Given the description of an element on the screen output the (x, y) to click on. 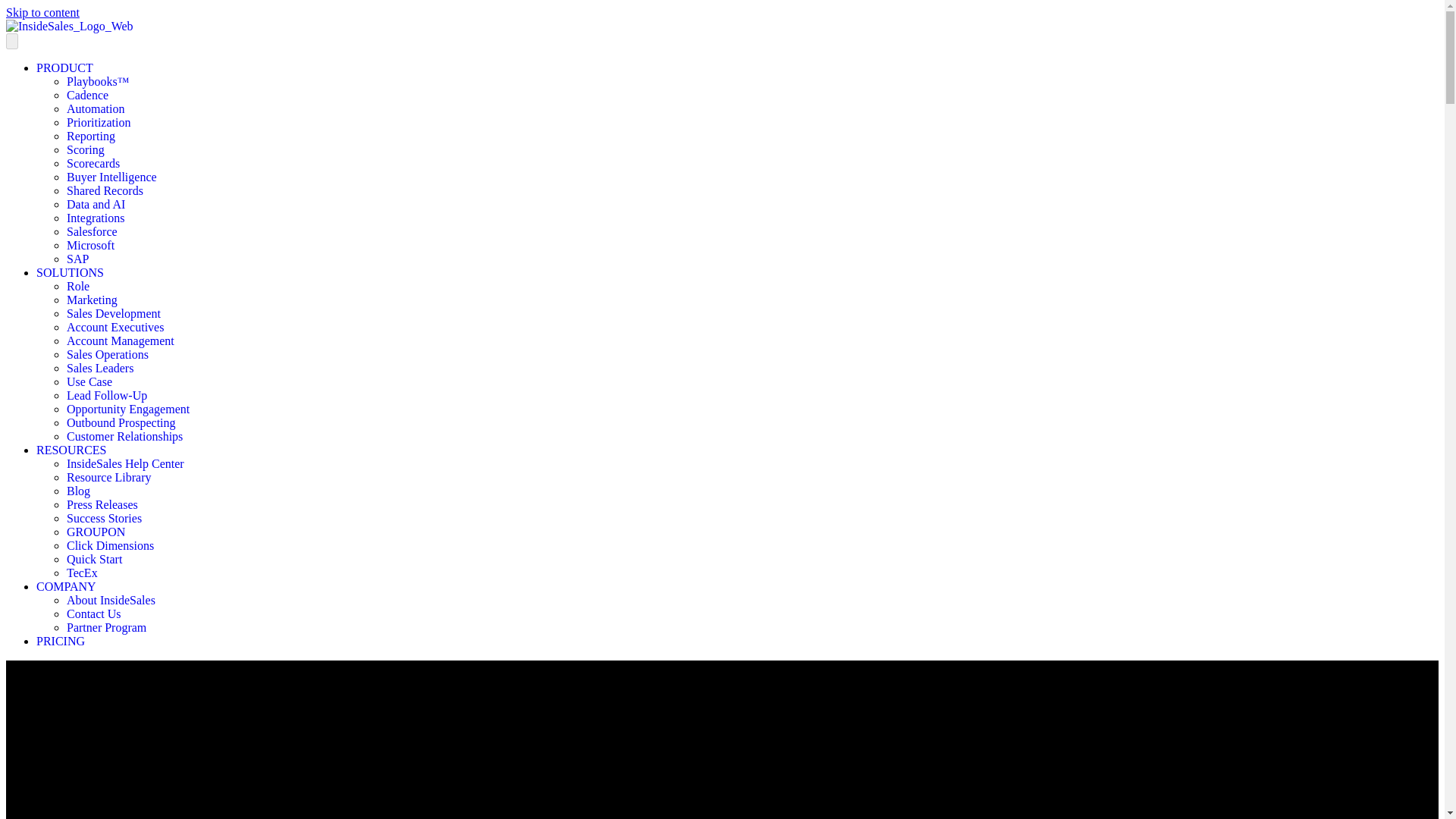
Click Dimensions (110, 545)
Resource Library (108, 477)
Lead Follow-Up (106, 395)
Account Executives (114, 327)
Shared Records (104, 190)
Reporting (90, 135)
Opportunity Engagement (127, 408)
Role (77, 286)
Sales Leaders (99, 367)
Quick Start (94, 558)
